Given the description of an element on the screen output the (x, y) to click on. 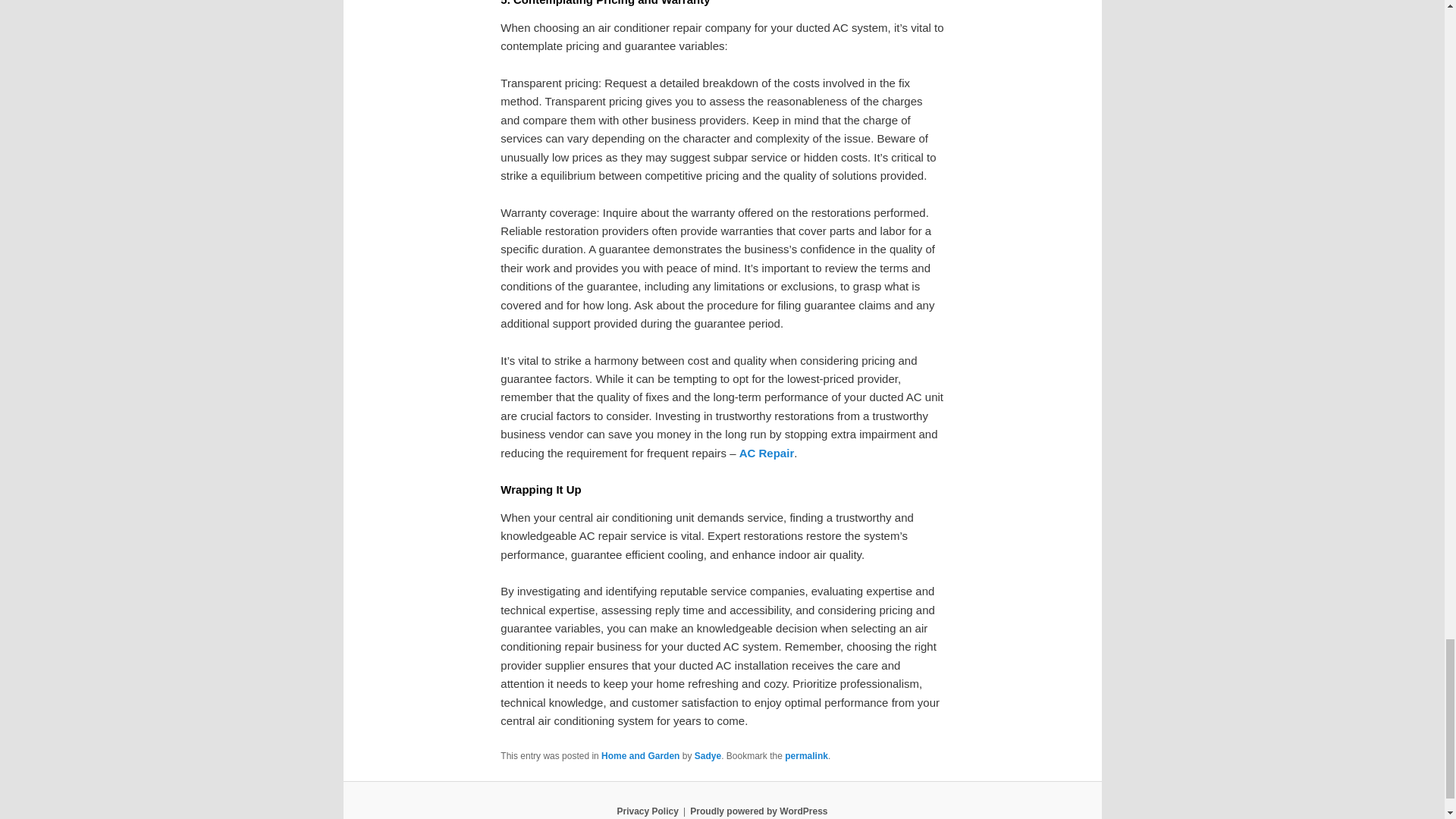
Semantic Personal Publishing Platform (758, 810)
permalink (806, 756)
Proudly powered by WordPress (758, 810)
AC Repair (766, 452)
Sadye (707, 756)
Privacy Policy (646, 810)
Home and Garden (640, 756)
